Given the description of an element on the screen output the (x, y) to click on. 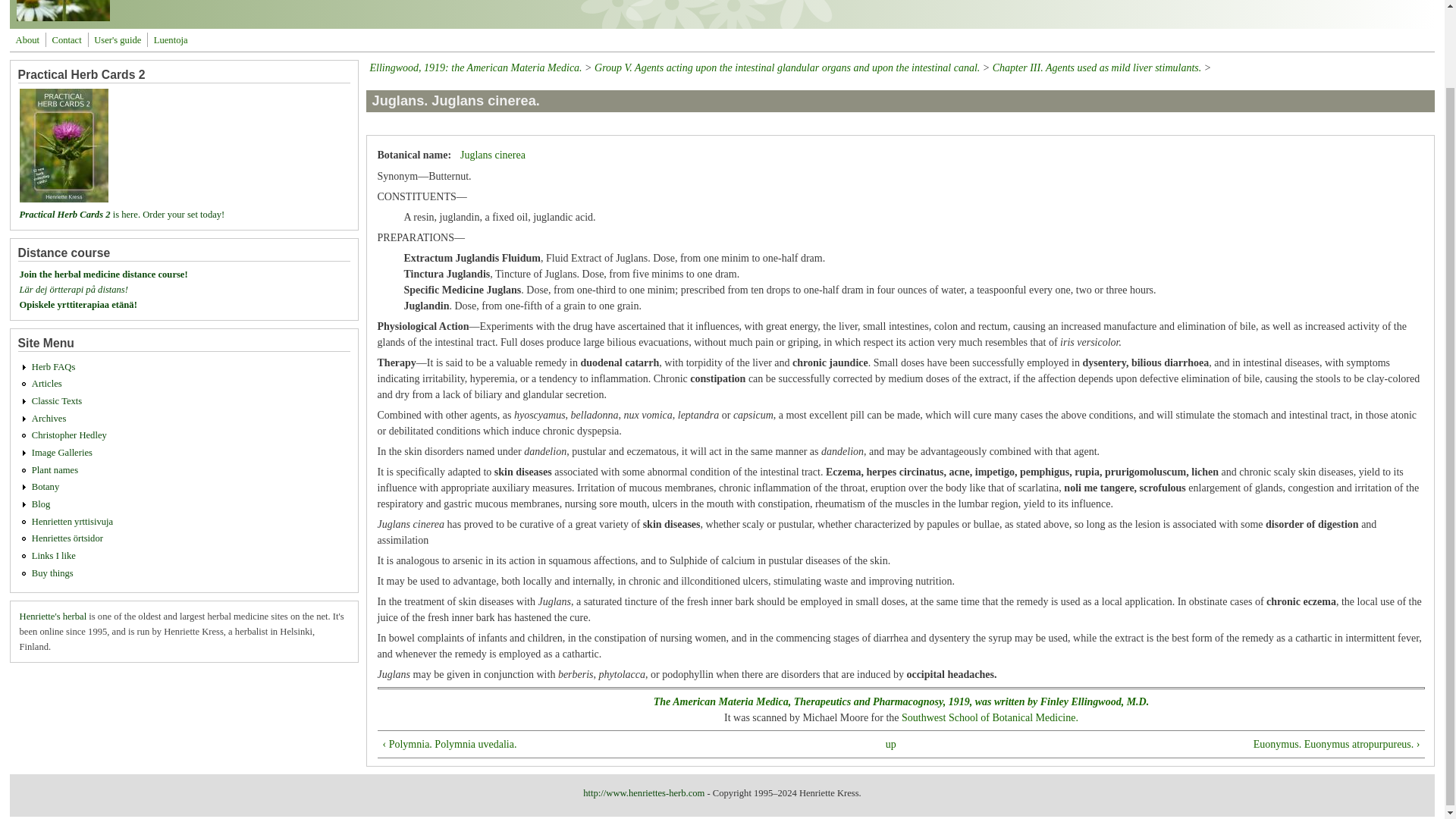
Tips on the best way to find things on this site. (117, 39)
User's guide (117, 39)
About (27, 39)
Links I like (53, 555)
Home (63, 17)
Send me a comment. (66, 39)
Scanned and OCR'd herbal and pharmaceutical texts. (56, 400)
Go to parent page (890, 744)
Plant names (55, 470)
